Given the description of an element on the screen output the (x, y) to click on. 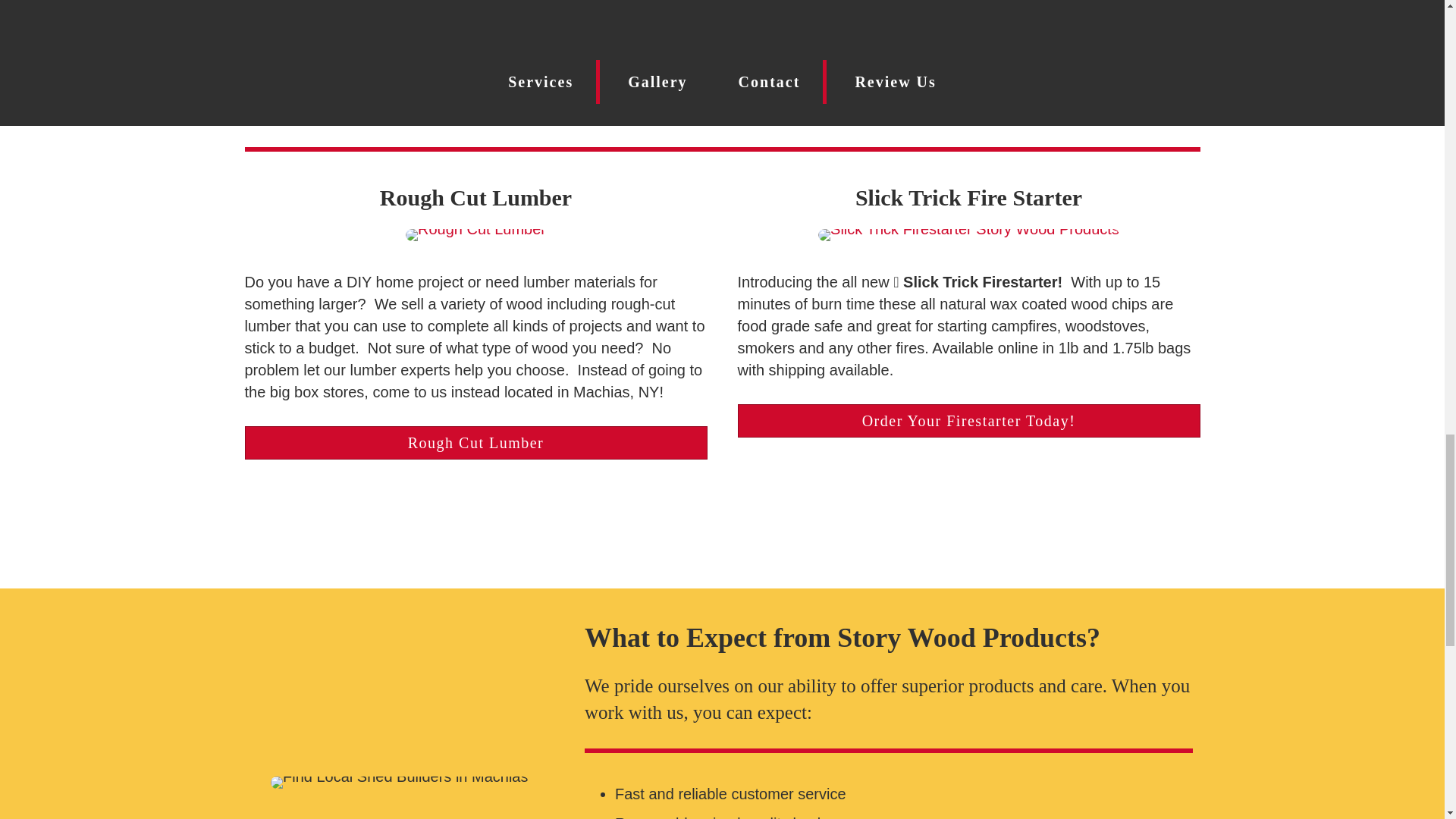
Rough Cut Lumber (476, 234)
Custom Amish Sheds (475, 92)
Slick Trick Firestarter Story Wood Products (968, 234)
Find Local Shed Builders in Machias (399, 782)
Order Your Firestarter Today! (967, 420)
Rough Cut Lumber (475, 442)
